Given the description of an element on the screen output the (x, y) to click on. 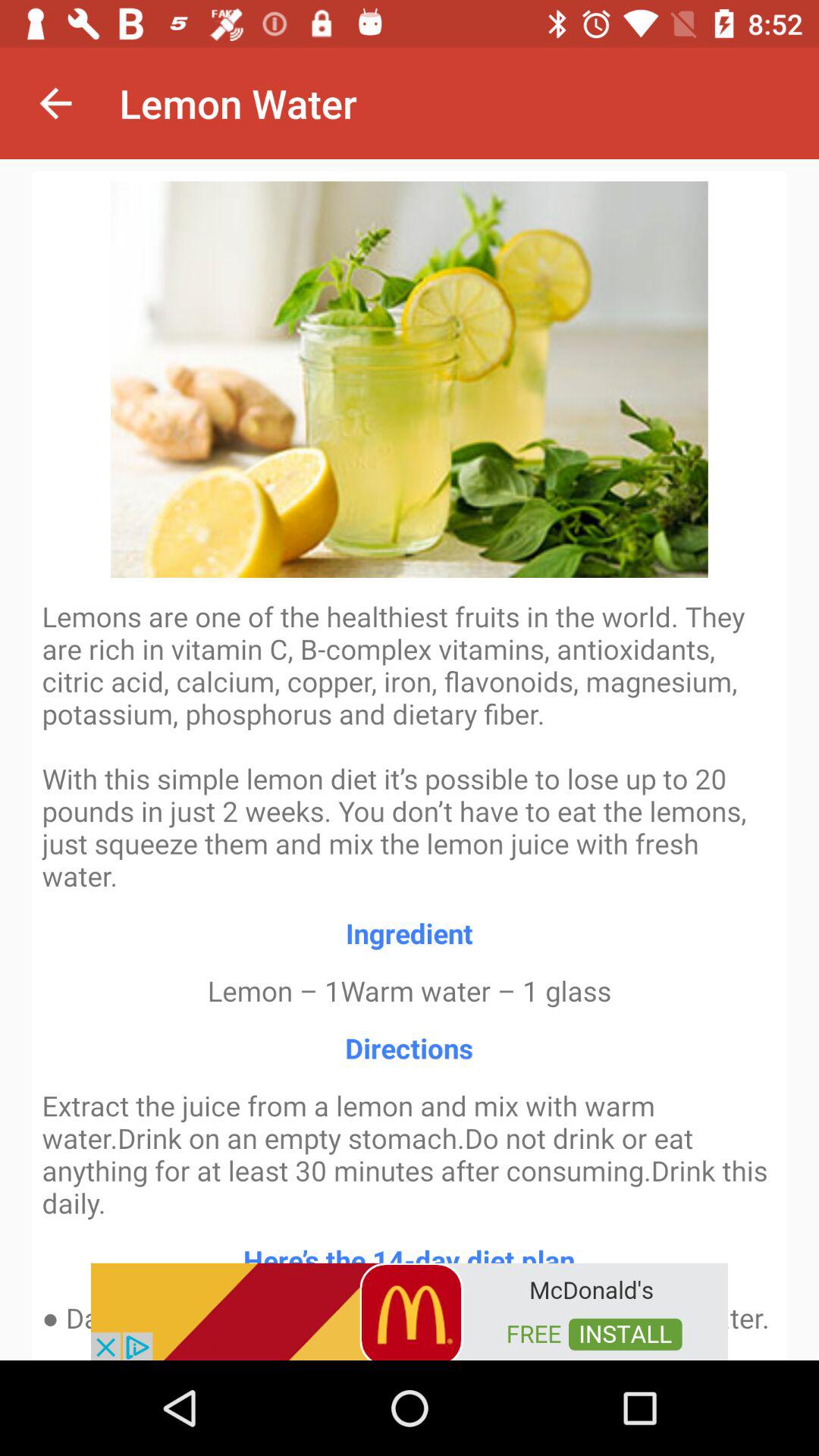
choose app next to lemon water item (55, 103)
